Given the description of an element on the screen output the (x, y) to click on. 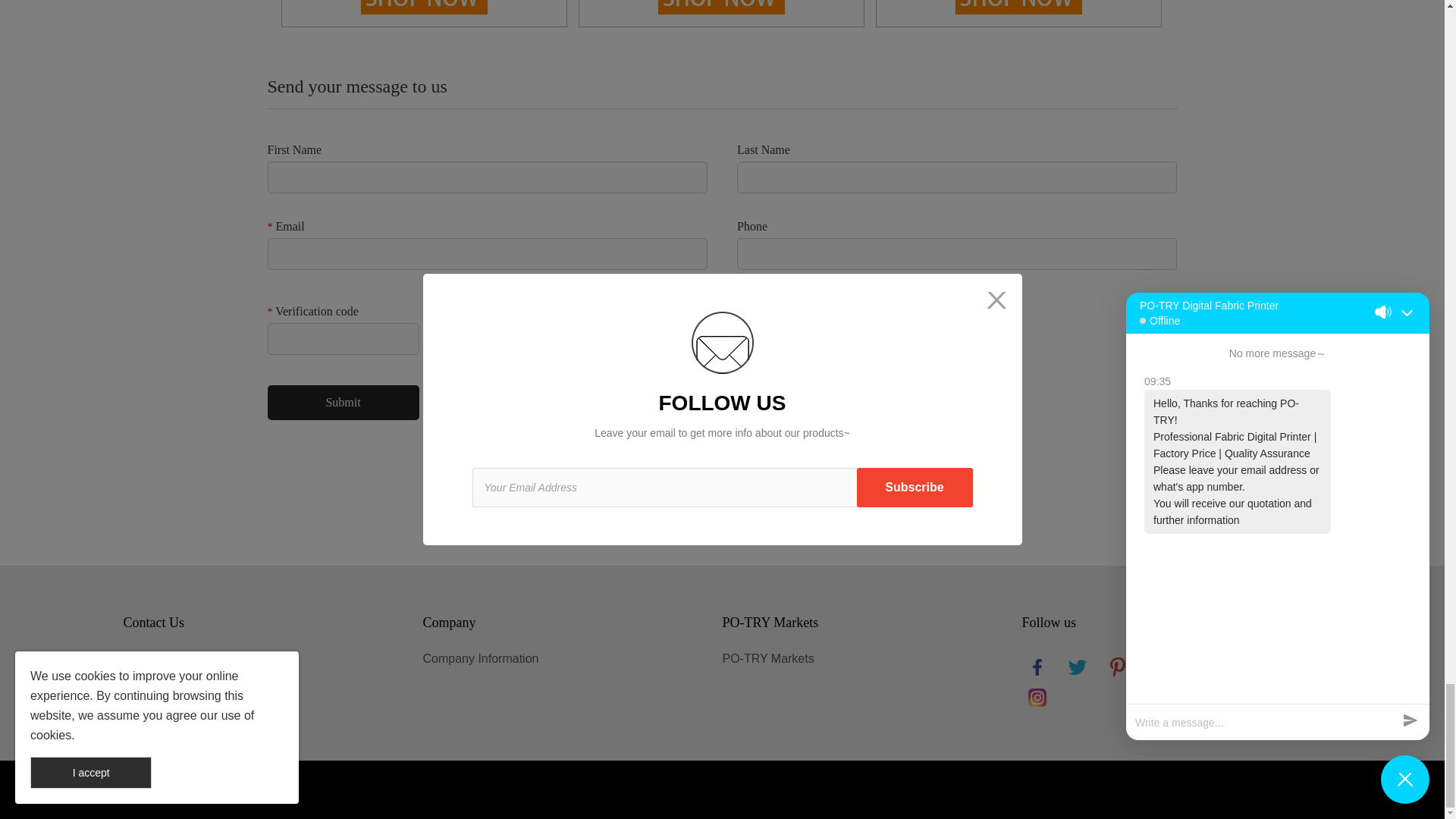
Submit (342, 402)
